Given the description of an element on the screen output the (x, y) to click on. 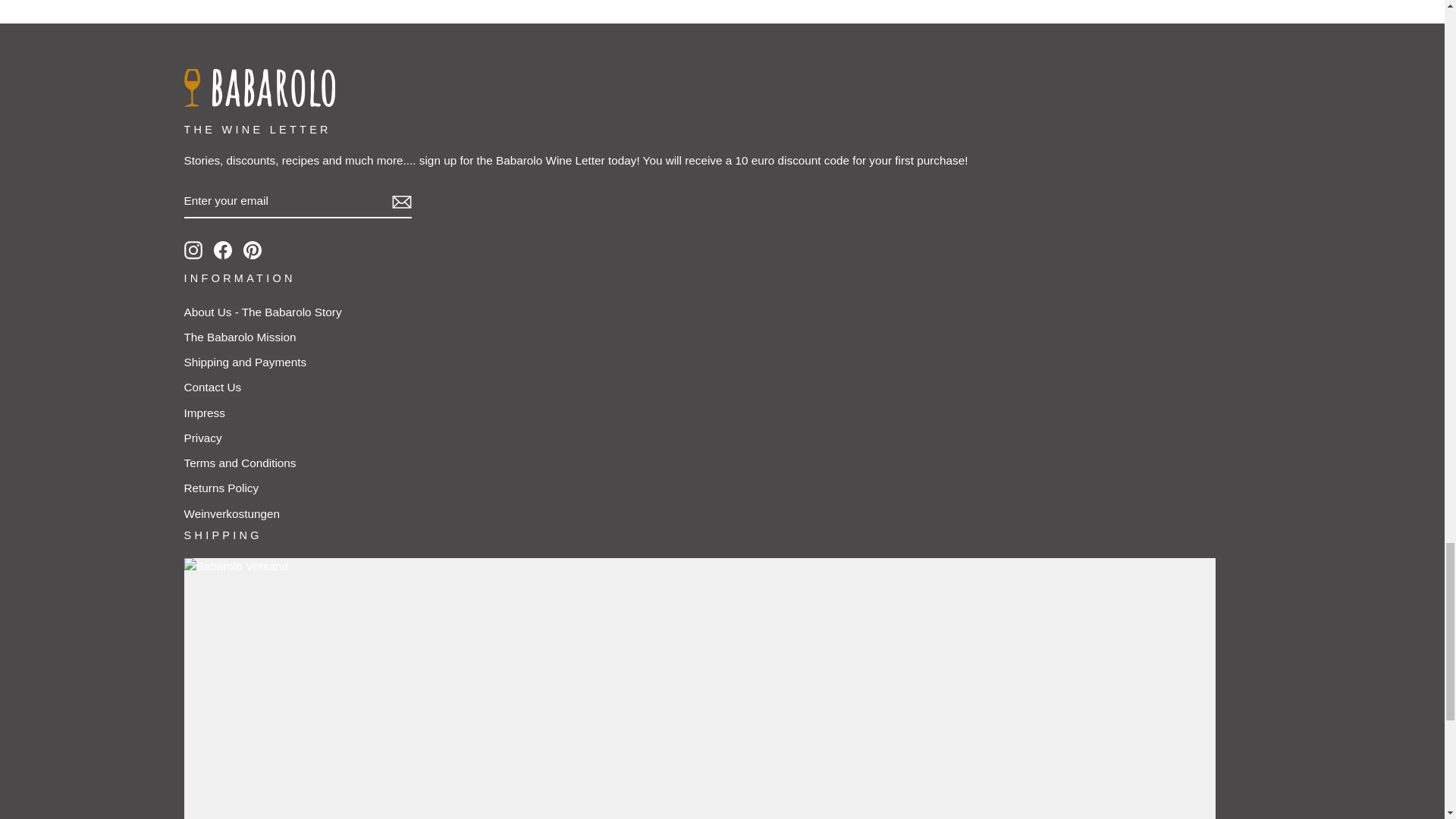
Babarolo Weinhandel GmbH on Pinterest (251, 249)
Babarolo Weinhandel GmbH on Instagram (192, 249)
Babarolo Weinhandel GmbH on Facebook (222, 249)
